Given the description of an element on the screen output the (x, y) to click on. 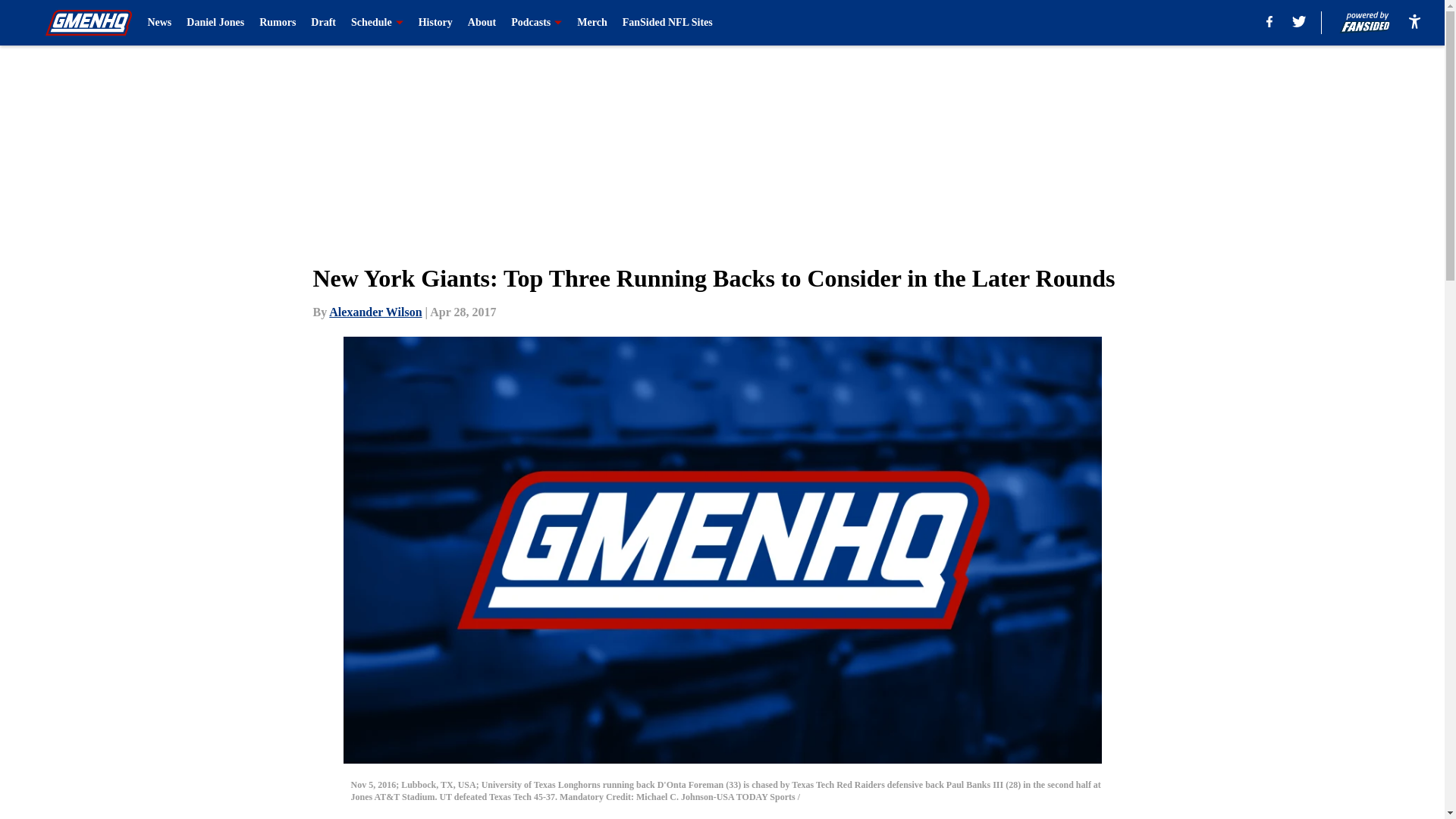
About (481, 22)
Daniel Jones (215, 22)
Alexander Wilson (375, 311)
Rumors (277, 22)
Merch (591, 22)
FanSided NFL Sites (668, 22)
Draft (323, 22)
History (435, 22)
News (159, 22)
